Given the description of an element on the screen output the (x, y) to click on. 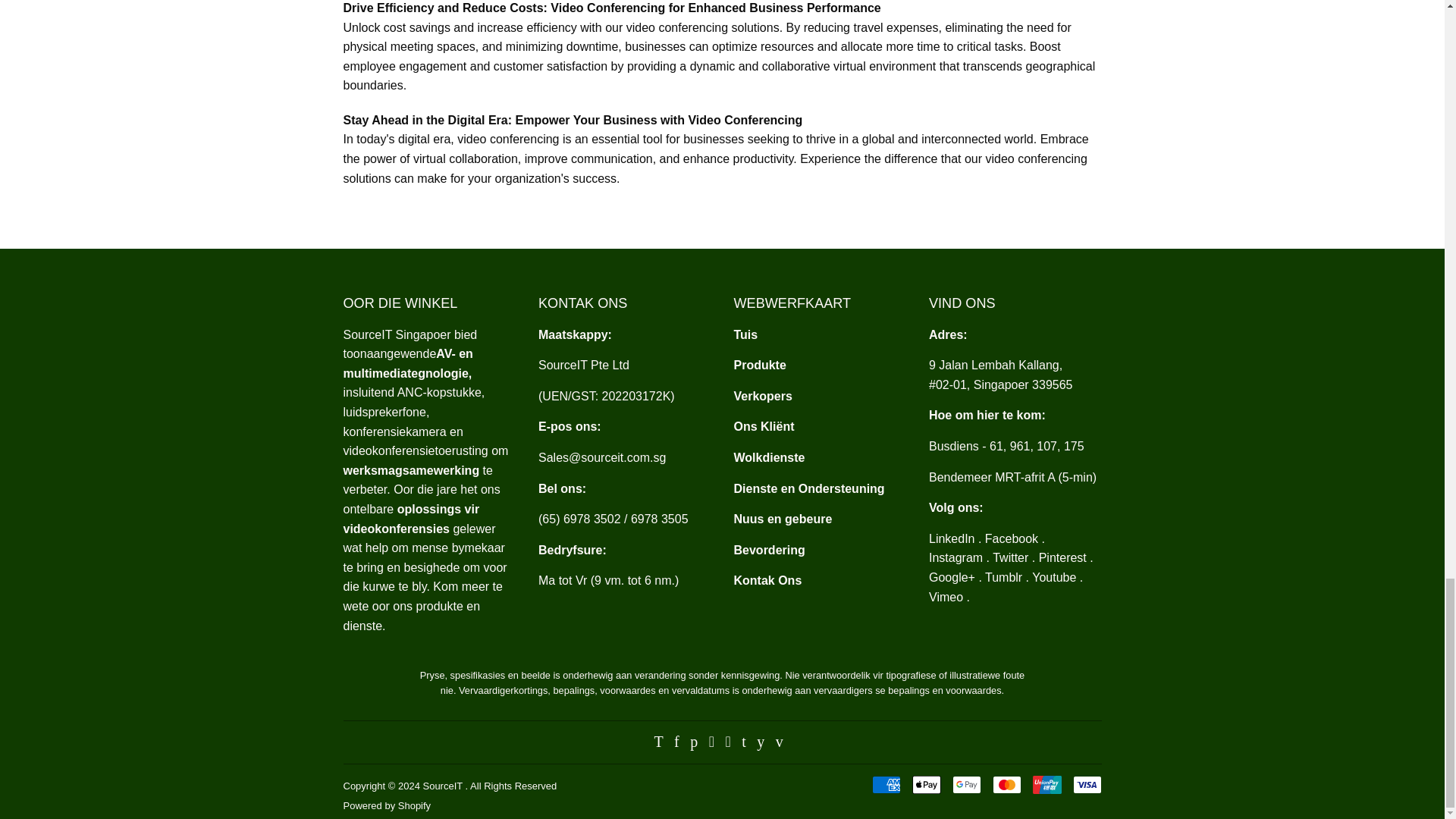
American Express (886, 784)
Visa (1085, 784)
Apple Pay (925, 784)
Google Pay (966, 784)
Oplossing vir videokonferensies (410, 518)
Mastercard (1005, 784)
Ons Versamelings (759, 364)
Oor SourceIT Pte Ltd (406, 363)
Union Pay (1046, 784)
Wolkdienste (769, 457)
Handelsmerke waarmee ons werk (762, 395)
SourceIT - Videokonferensieverskaffer in Singapoer (745, 334)
Werksmagkommunikasie en -samewerking (410, 470)
